Given the description of an element on the screen output the (x, y) to click on. 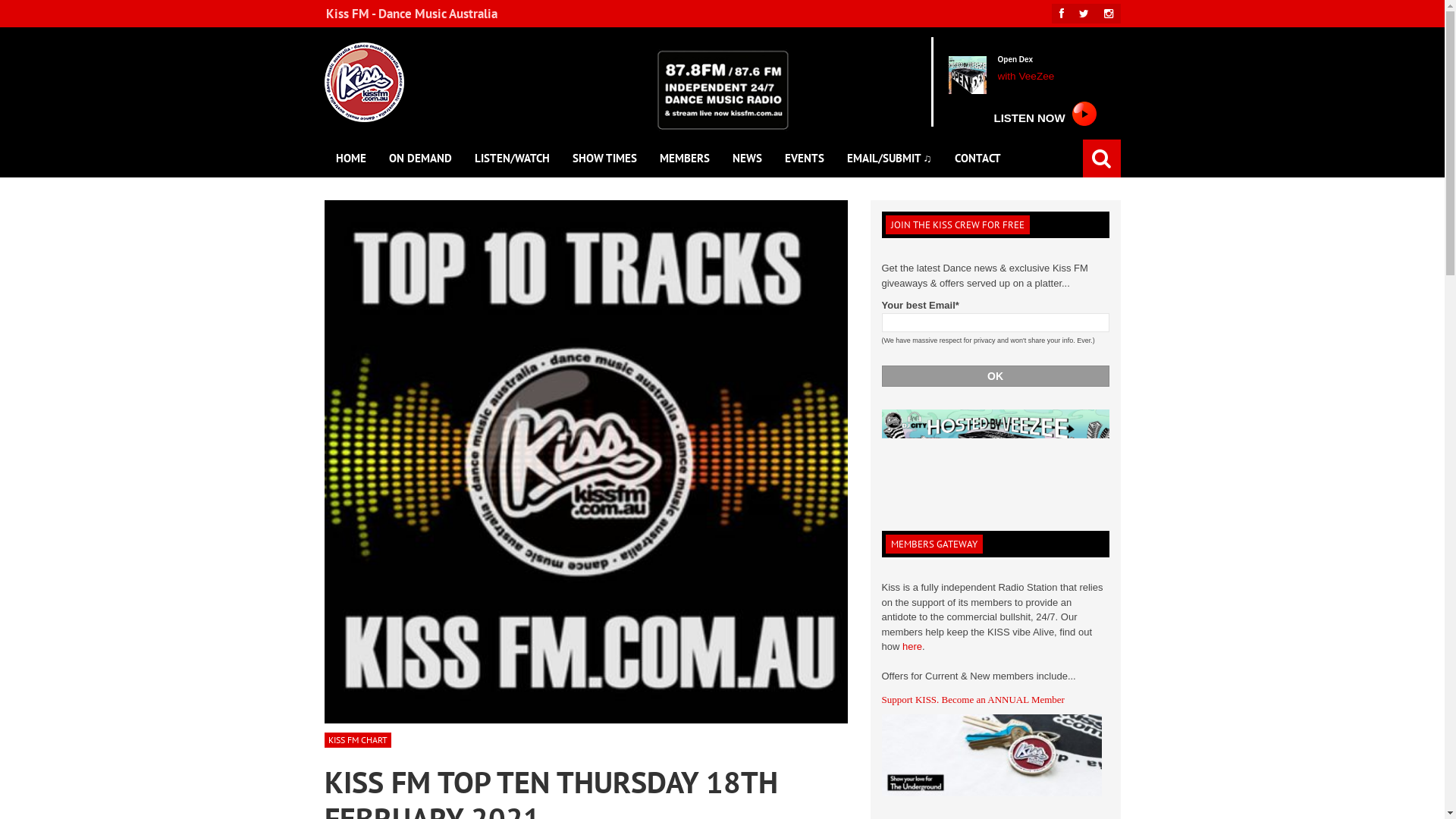
KISS FM CHART Element type: text (357, 739)
Support KISS. Become an ANNUAL Member Element type: hover (991, 754)
Support KISS. Become an ANNUAL Member Element type: text (994, 699)
Banner1-KissFM Element type: hover (994, 451)
OK Element type: text (994, 375)
Open Dex Element type: text (1015, 61)
here Element type: text (912, 646)
ON DEMAND Element type: text (420, 158)
CONTACT Element type: text (977, 158)
EVENTS Element type: text (804, 158)
NEWS Element type: text (746, 158)
LISTEN NOW Element type: text (1042, 111)
SHOW TIMES Element type: text (604, 158)
HOME Element type: text (350, 158)
MEMBERS Element type: text (683, 158)
LISTEN/WATCH Element type: text (511, 158)
